Given the description of an element on the screen output the (x, y) to click on. 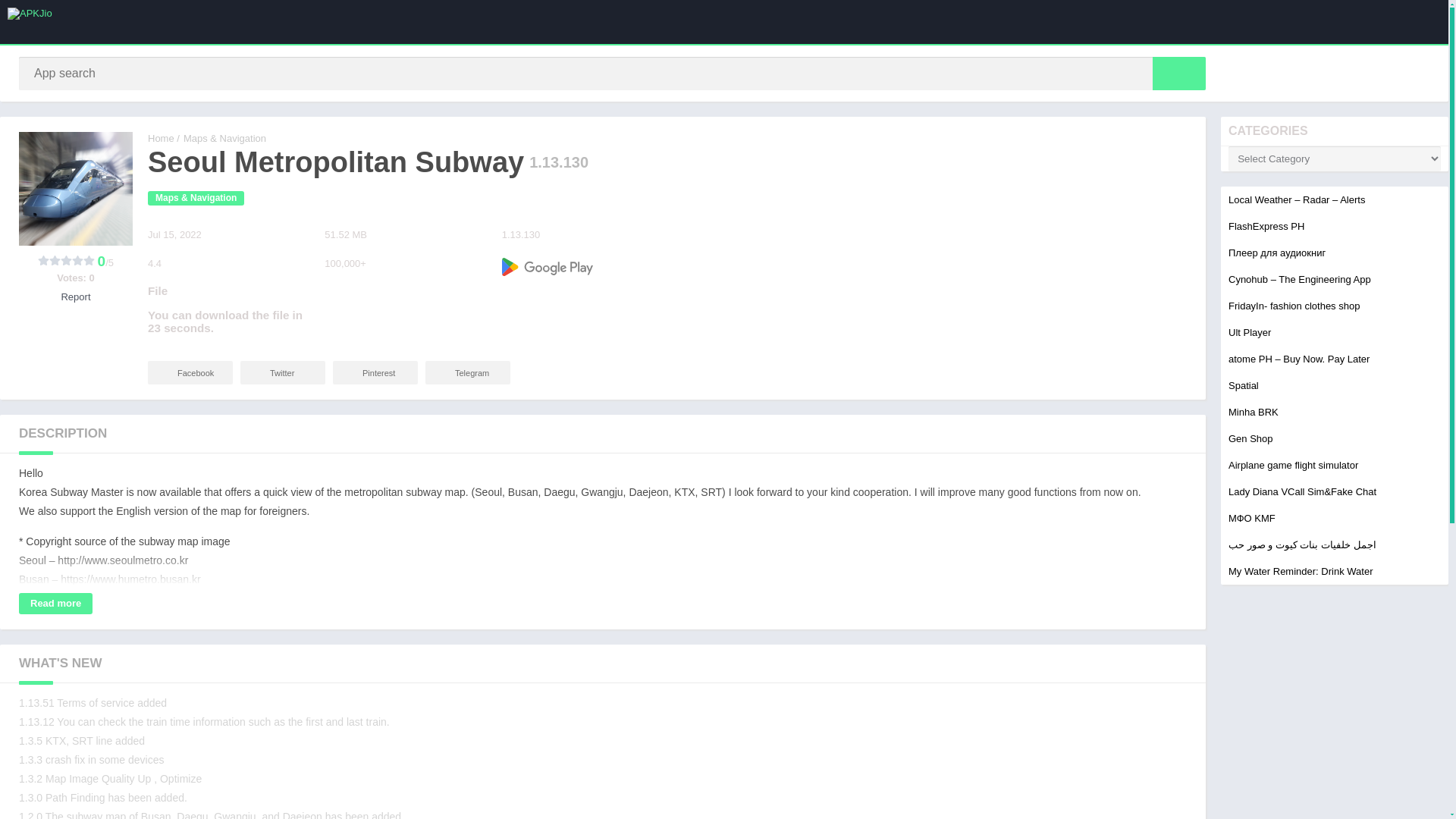
App search (1179, 73)
Twitter (282, 372)
Spatial (1243, 385)
APKJio (161, 138)
Facebook (190, 372)
Ult Player (1249, 332)
Pinterest (375, 372)
FridayIn- fashion clothes shop (1293, 306)
Minha BRK (1253, 411)
Gen Shop (1250, 438)
FlashExpress PH (1266, 225)
Telegram (468, 372)
Home (161, 138)
